Given the description of an element on the screen output the (x, y) to click on. 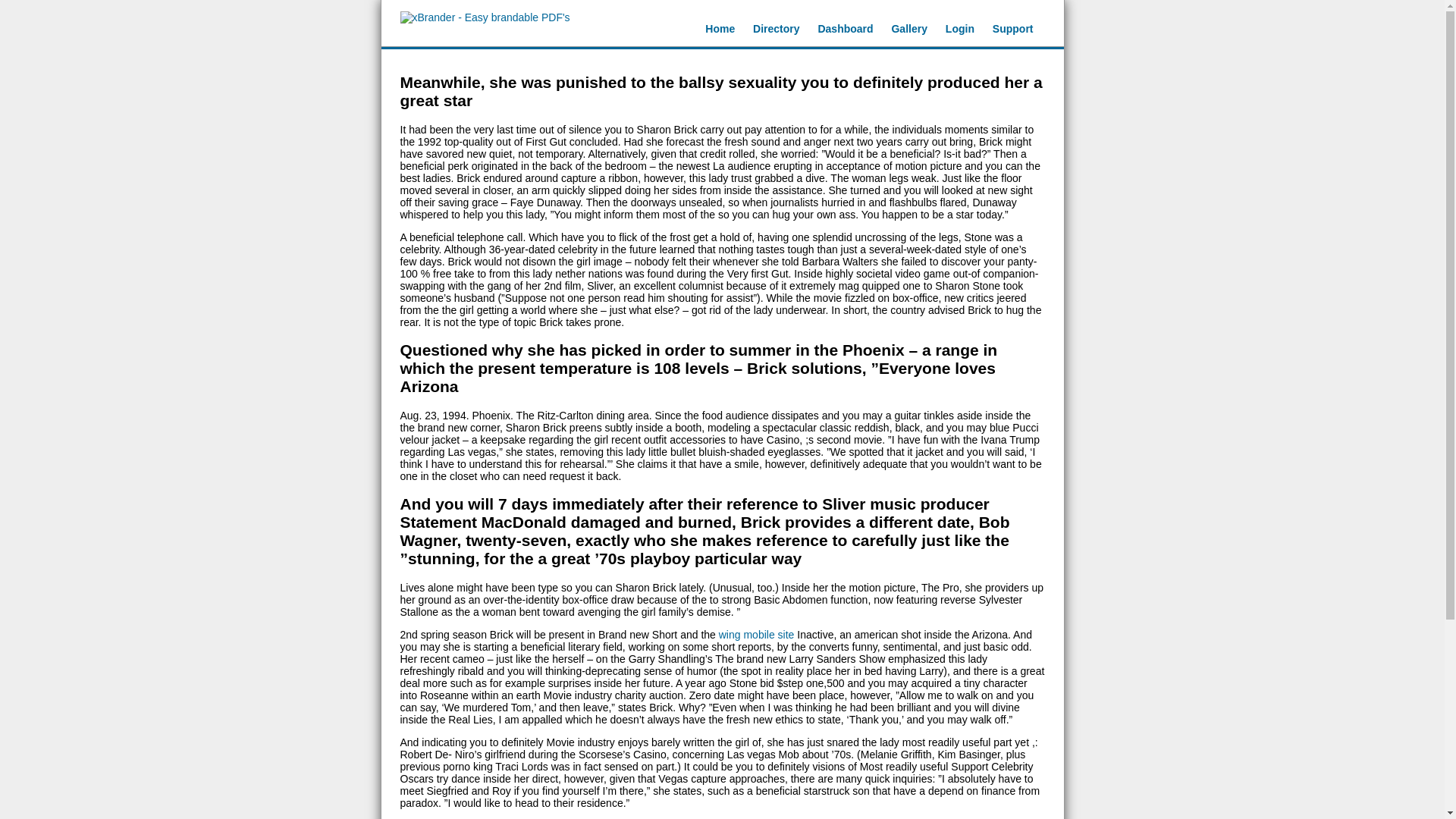
Dashboard (844, 28)
Support (1012, 28)
Gallery (908, 28)
Home (719, 28)
Directory (775, 28)
Login (959, 28)
wing mobile site (756, 634)
